Given the description of an element on the screen output the (x, y) to click on. 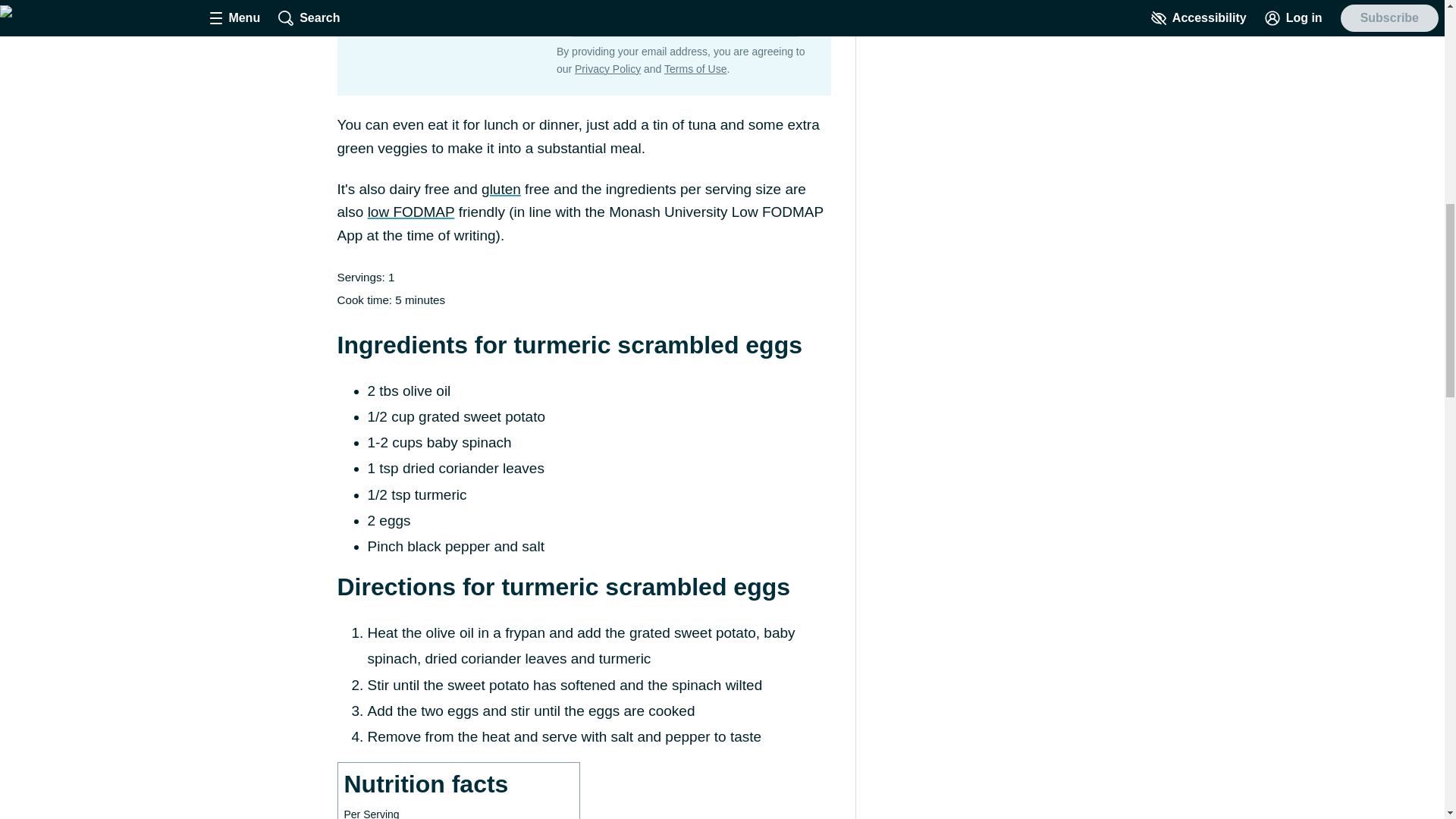
Terms of Use (694, 69)
Privacy Policy (607, 69)
Subscribe (763, 18)
gluten (501, 188)
low FODMAP (411, 211)
